Given the description of an element on the screen output the (x, y) to click on. 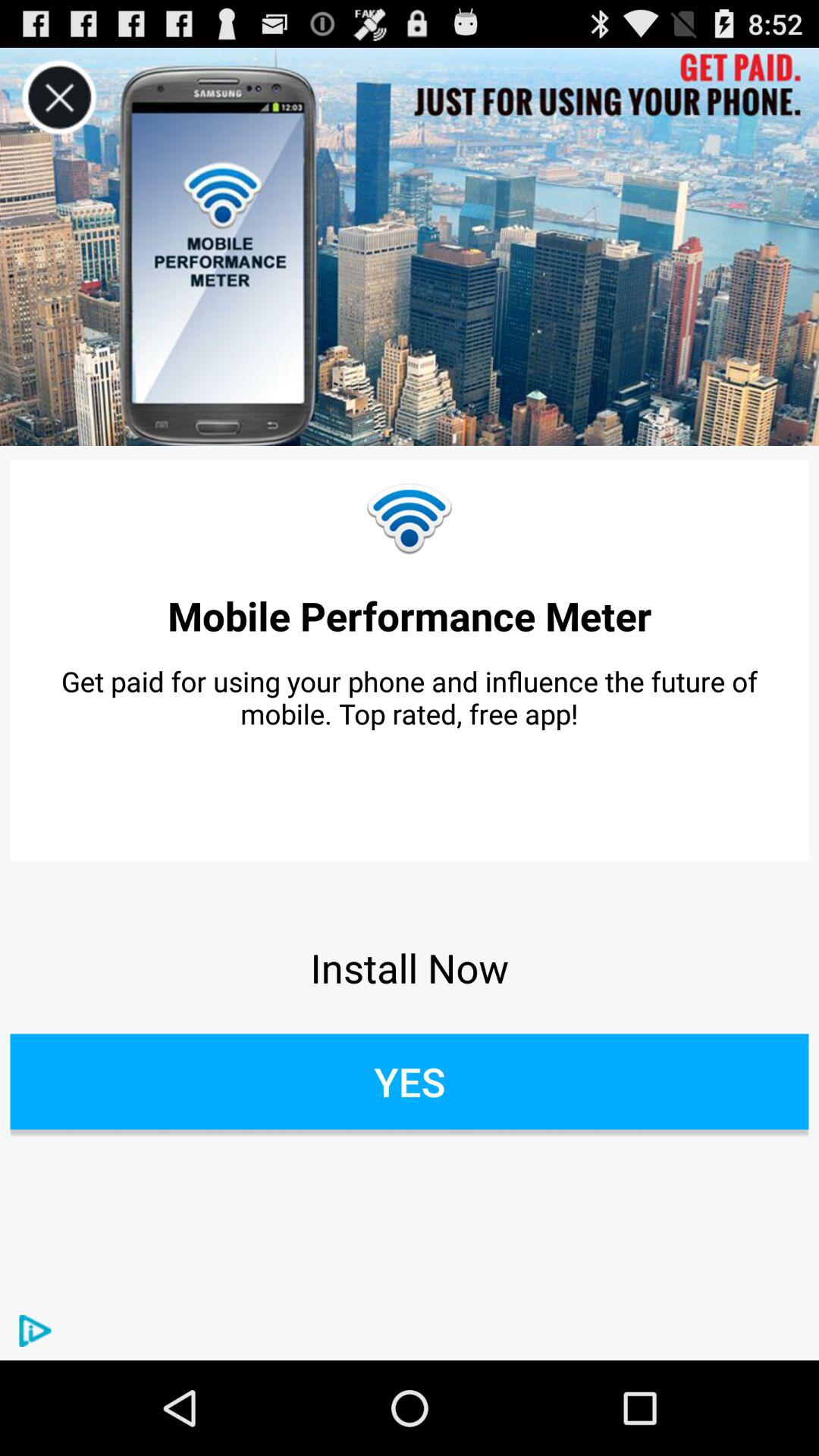
scroll until mobile performance meter icon (409, 615)
